Given the description of an element on the screen output the (x, y) to click on. 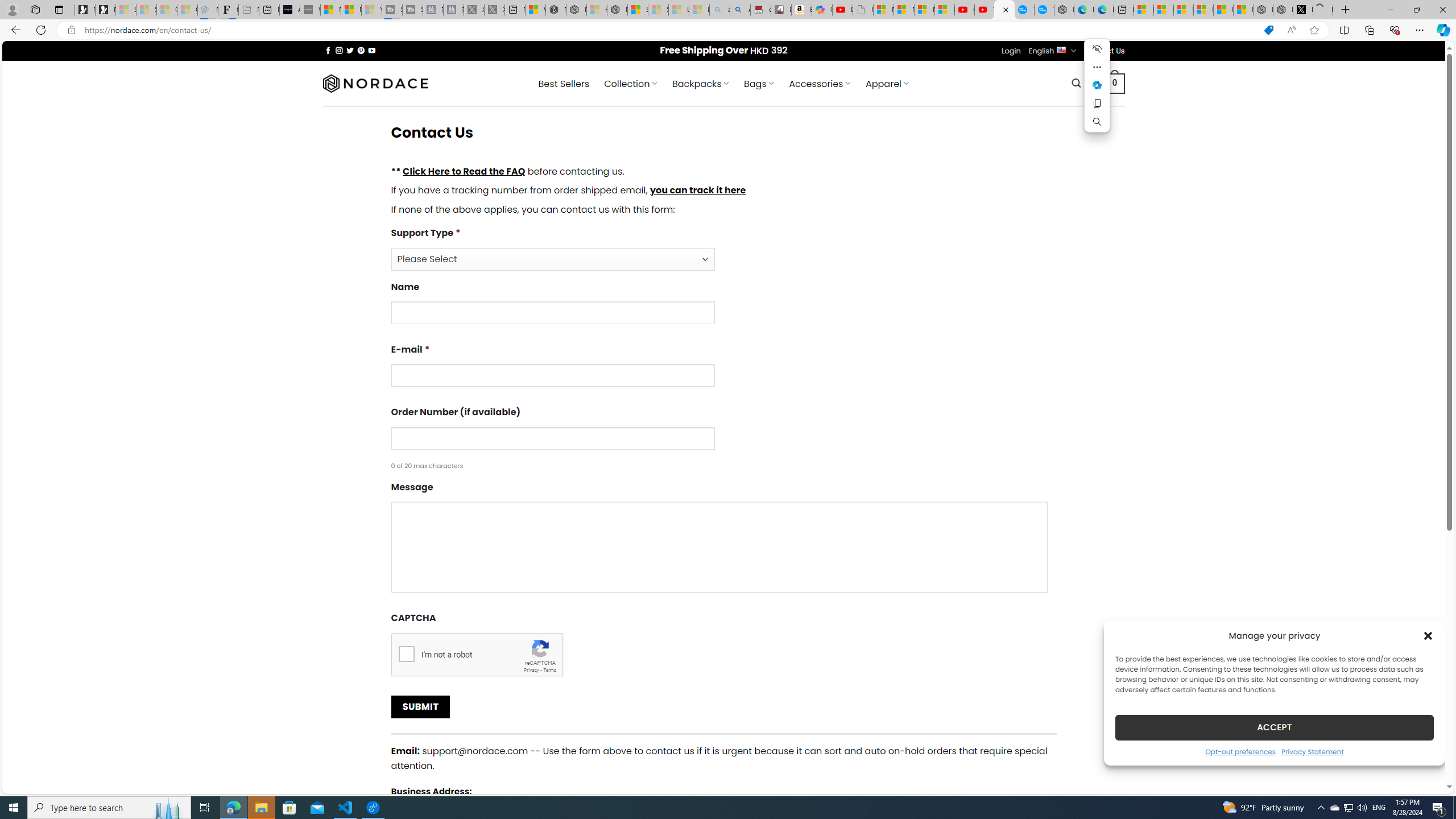
  0   (1115, 83)
Nordace - Contact Us (1004, 9)
 Best Sellers (563, 83)
E-mail* (723, 369)
E-mail* (552, 375)
 0  (1115, 83)
